Given the description of an element on the screen output the (x, y) to click on. 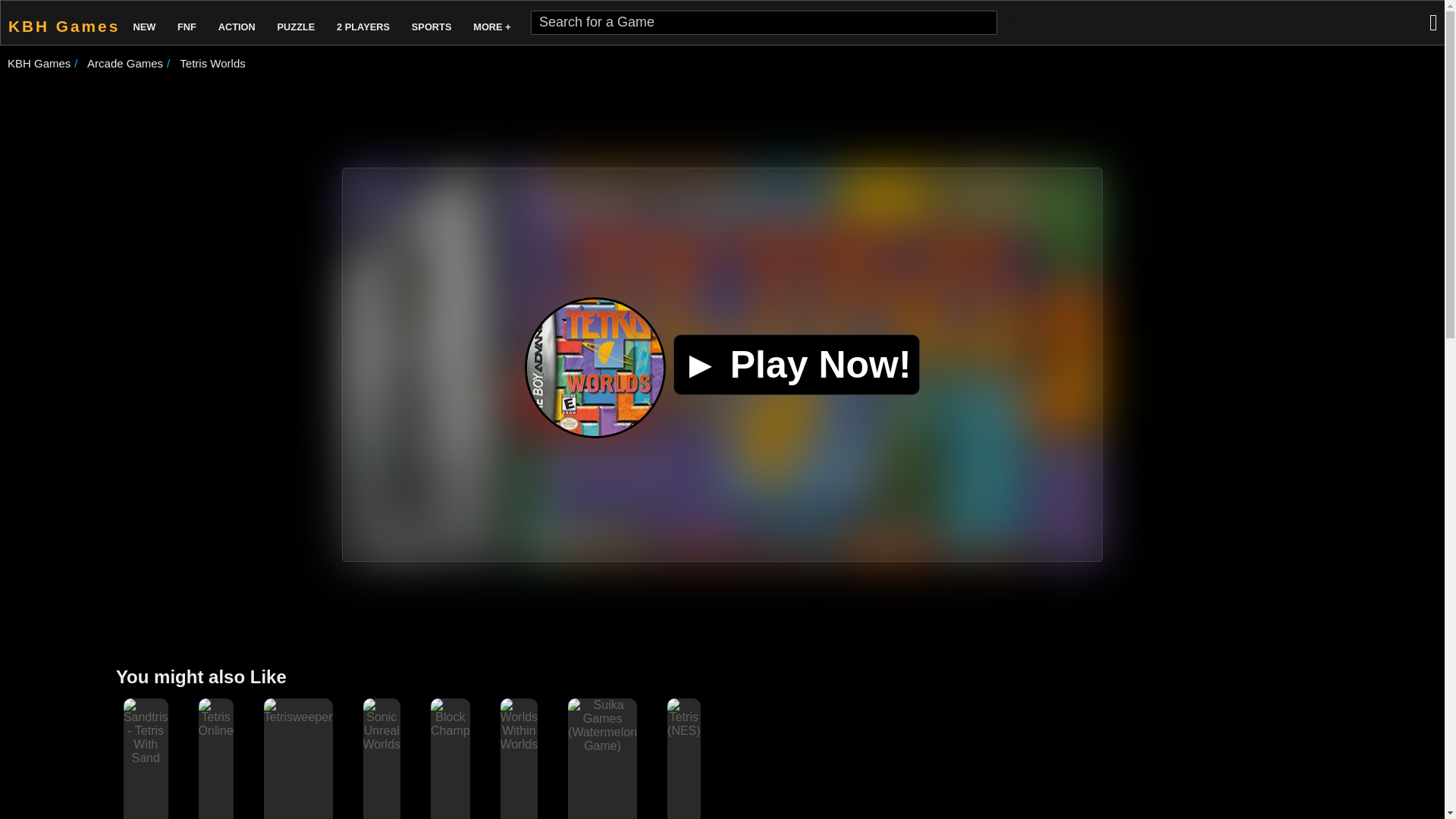
ACTION (237, 22)
Tetrisweeper (298, 710)
Quadruple Tetris (1132, 758)
Arcade Games (125, 62)
Dynamons 5 (798, 758)
Tetris Online (215, 730)
Block Champ (450, 717)
KBH Games (38, 62)
Tetris Cube (1299, 758)
SPORTS (432, 22)
